Given the description of an element on the screen output the (x, y) to click on. 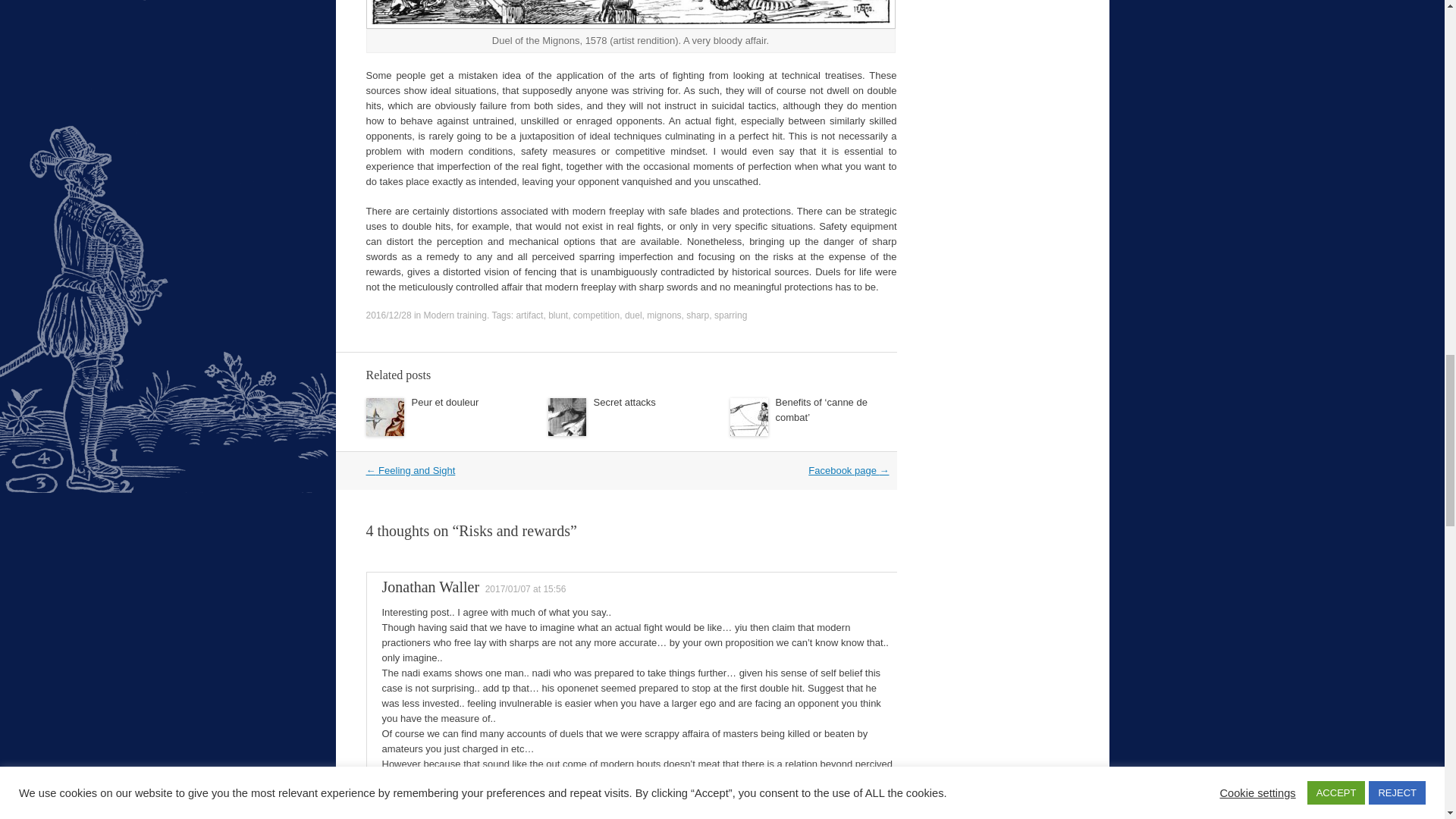
Jonathan Waller (430, 586)
Peur et douleur (444, 401)
Modern training (454, 315)
Secret attacks (623, 401)
mignons (663, 315)
competition (596, 315)
duel (633, 315)
sharp (697, 315)
blunt (557, 315)
Permalink to Peur et douleur (444, 401)
sparring (730, 315)
artifact (529, 315)
Permalink to Secret attacks (623, 401)
